Given the description of an element on the screen output the (x, y) to click on. 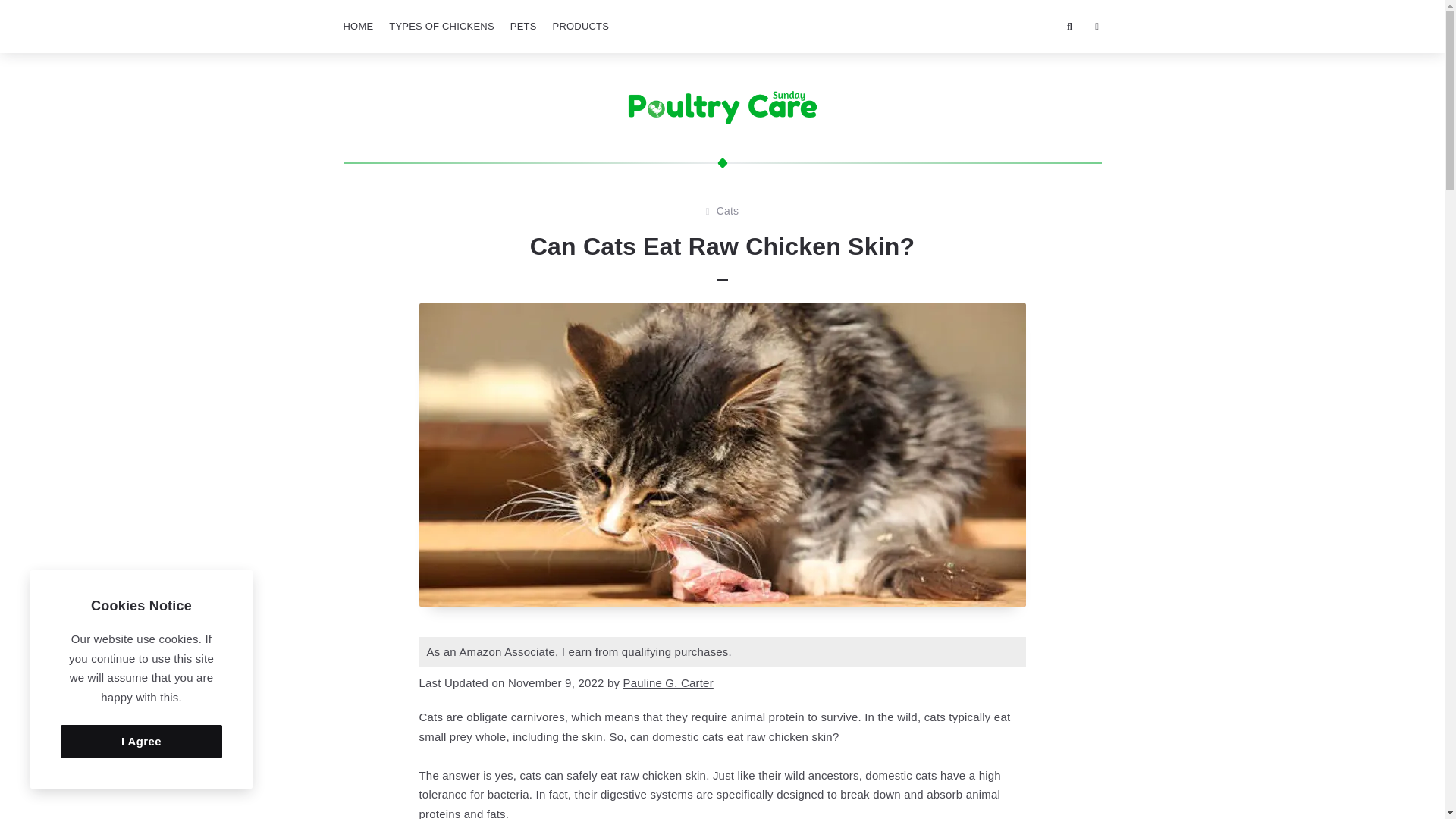
HOME (357, 26)
TYPES OF CHICKENS (441, 26)
PRODUCTS (580, 26)
Pauline G. Carter (668, 682)
Cats (727, 211)
